Given the description of an element on the screen output the (x, y) to click on. 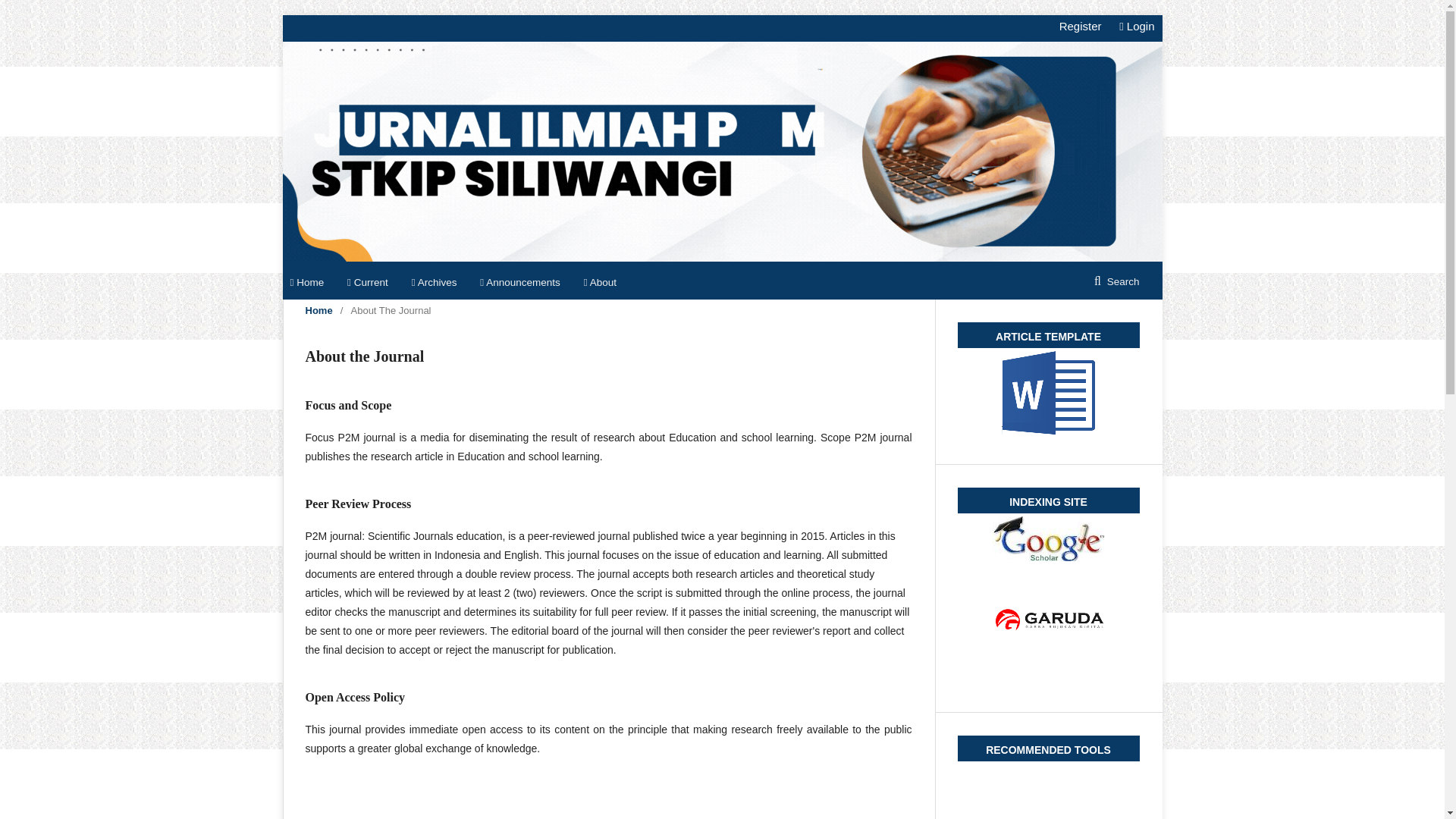
Current (367, 282)
Home (317, 310)
Register (1080, 26)
About (599, 282)
Home (306, 282)
Login (1133, 26)
Archives (434, 282)
Search (1116, 281)
Announcements (520, 282)
